Given the description of an element on the screen output the (x, y) to click on. 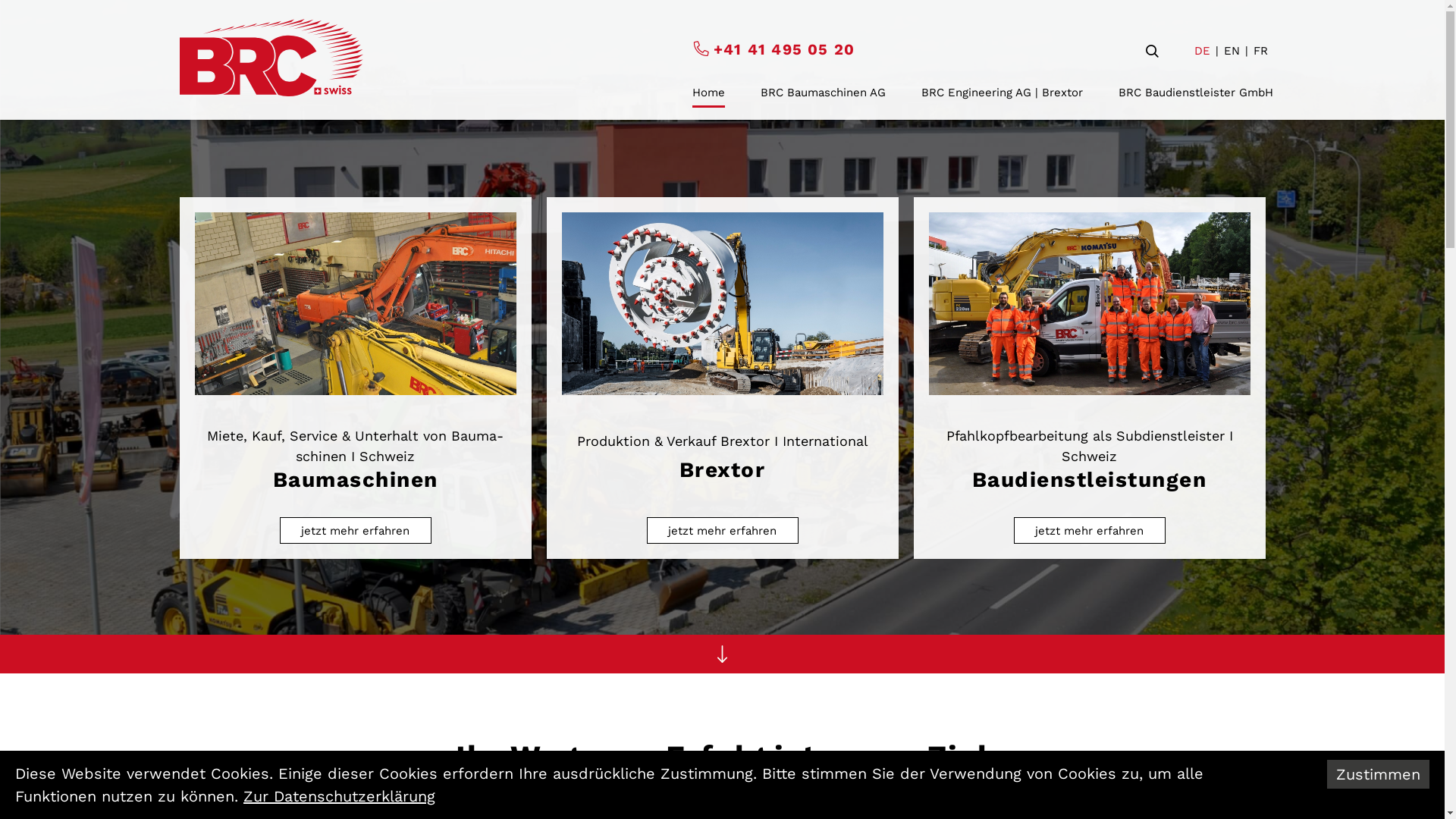
DE Element type: text (1201, 50)
BRC Swiss Element type: hover (270, 57)
BRC Engineering AG | Brextor Element type: text (1001, 92)
BRC Baumaschinen AG Element type: text (821, 92)
EN Element type: text (1231, 50)
BRC Baudienstleister GmbH Element type: text (1194, 92)
FR Element type: text (1259, 50)
Home Element type: text (707, 92)
